Given the description of an element on the screen output the (x, y) to click on. 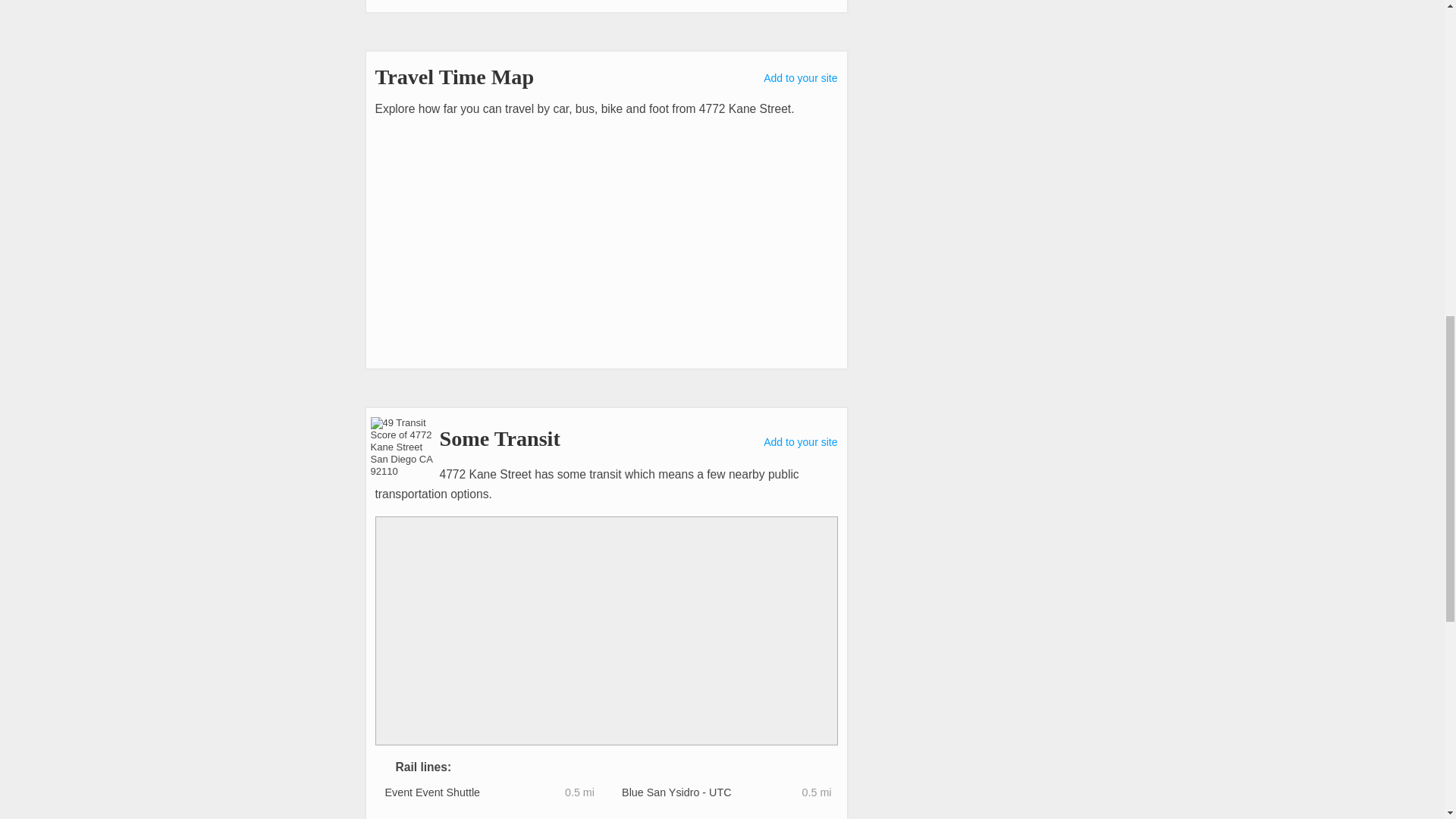
Add to your site (799, 78)
Add to your site (799, 441)
